Given the description of an element on the screen output the (x, y) to click on. 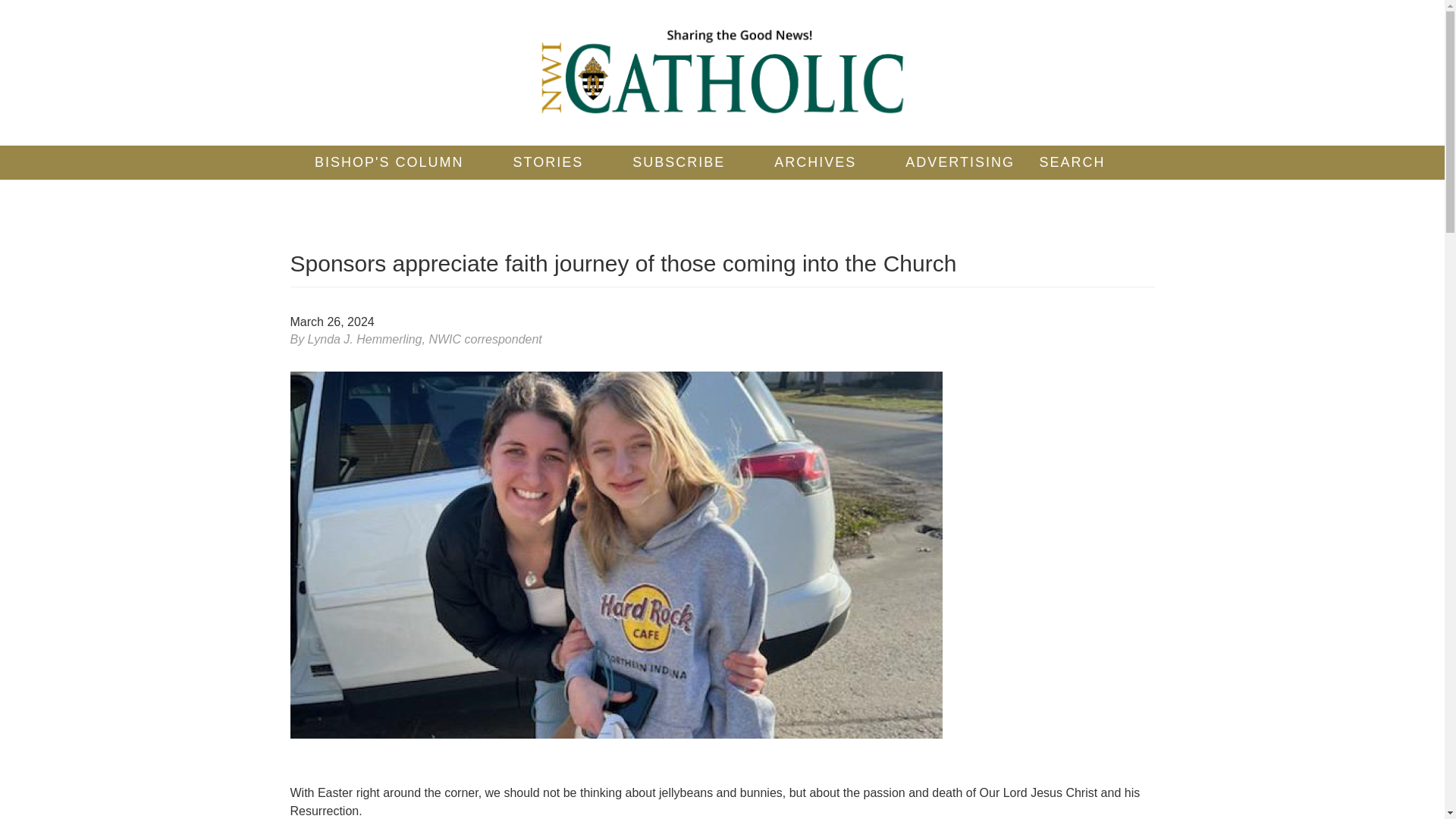
BISHOP'S COLUMN (388, 162)
ADVERTISING (959, 162)
ARCHIVES (814, 162)
Home (721, 72)
SUBSCRIBE (678, 162)
STORIES (547, 162)
